Given the description of an element on the screen output the (x, y) to click on. 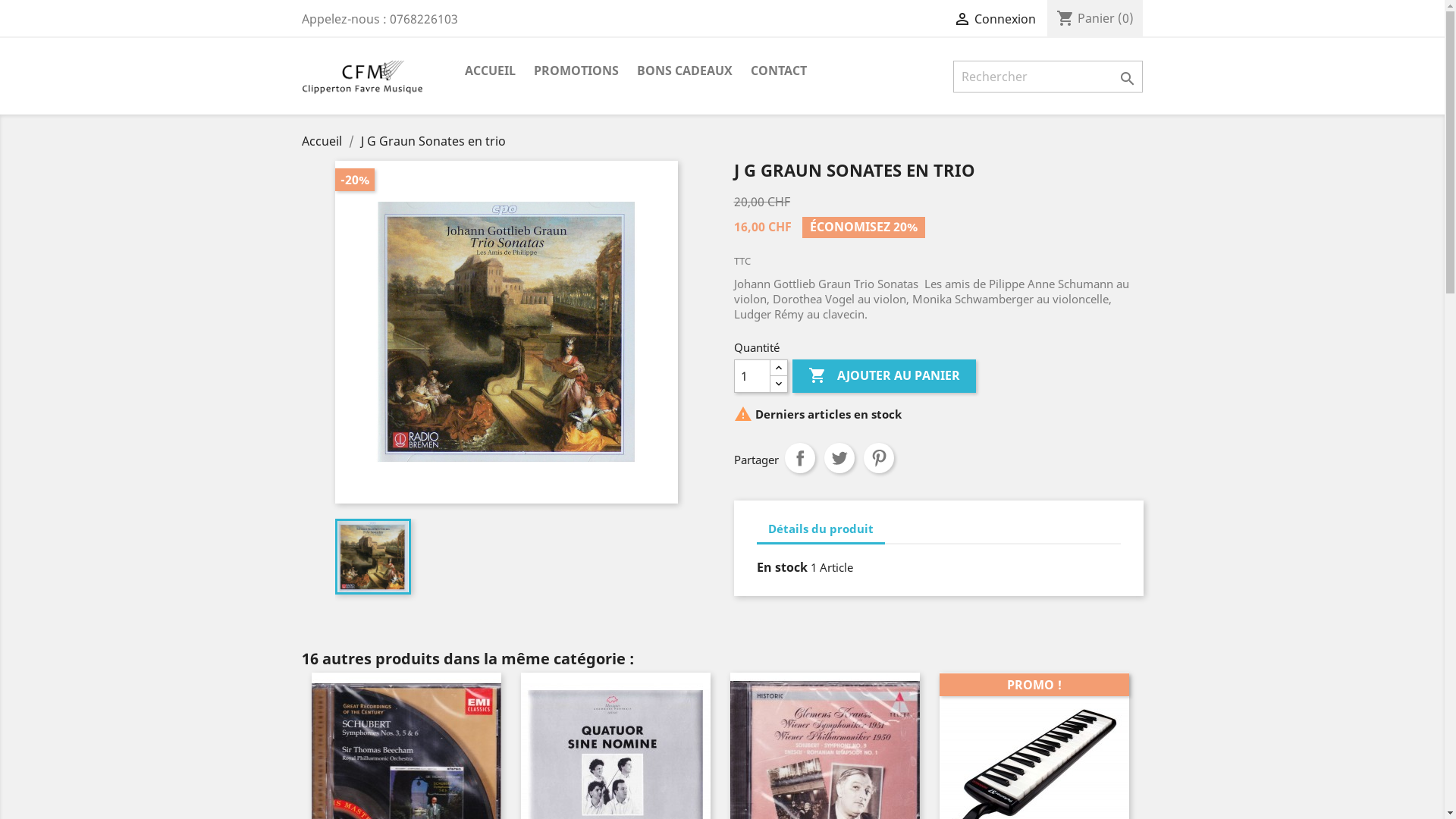
Accueil Element type: text (323, 140)
CONTACT Element type: text (778, 71)
BONS CADEAUX Element type: text (684, 71)
Pinterest Element type: text (877, 457)
J G Graun Sonates en trio Element type: text (432, 140)
Tweet Element type: text (838, 457)
ACCUEIL Element type: text (489, 71)
Partager Element type: text (799, 457)
PROMOTIONS Element type: text (576, 71)
